Given the description of an element on the screen output the (x, y) to click on. 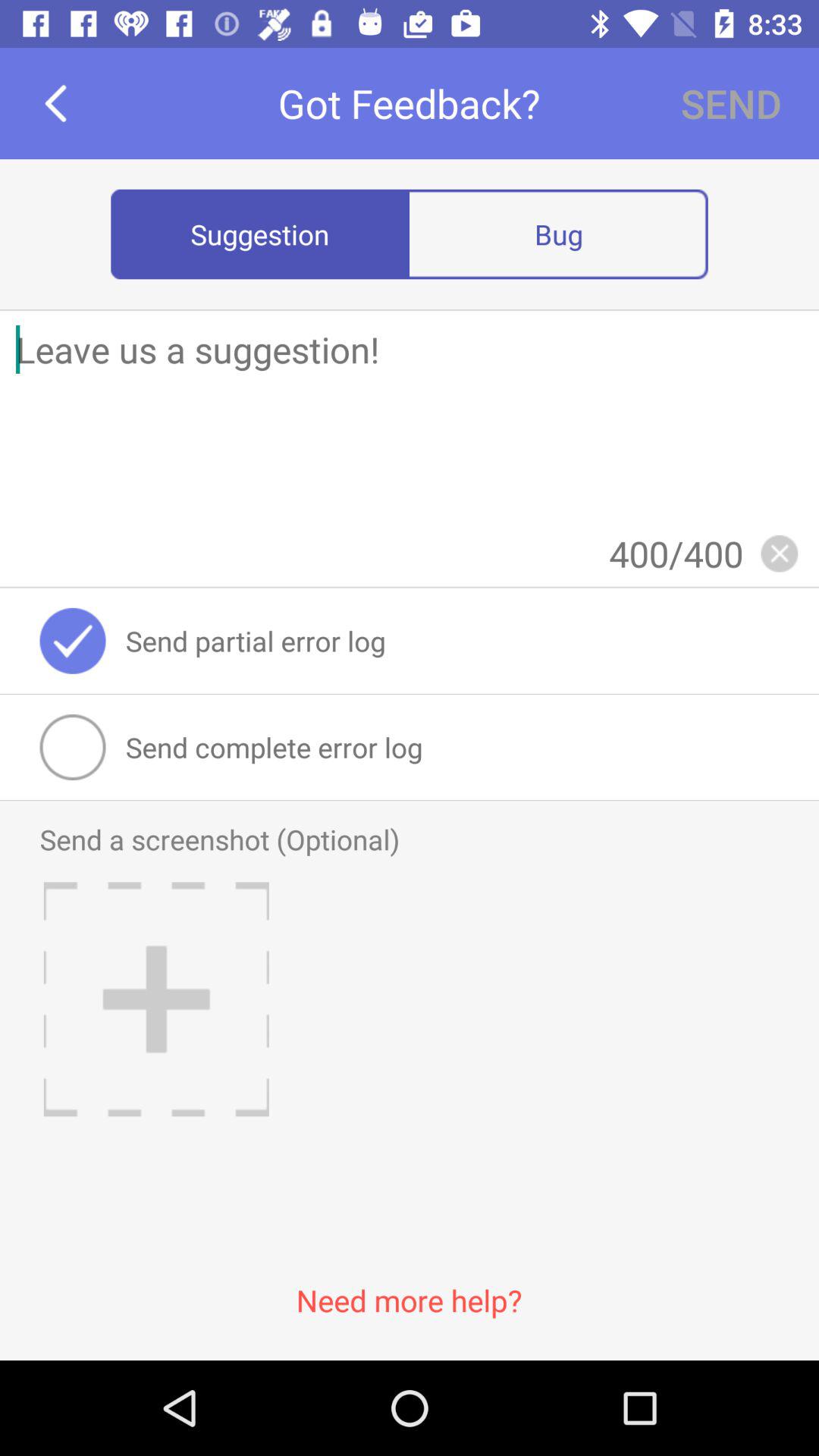
choose the item to the right of the 400/400 icon (779, 553)
